Given the description of an element on the screen output the (x, y) to click on. 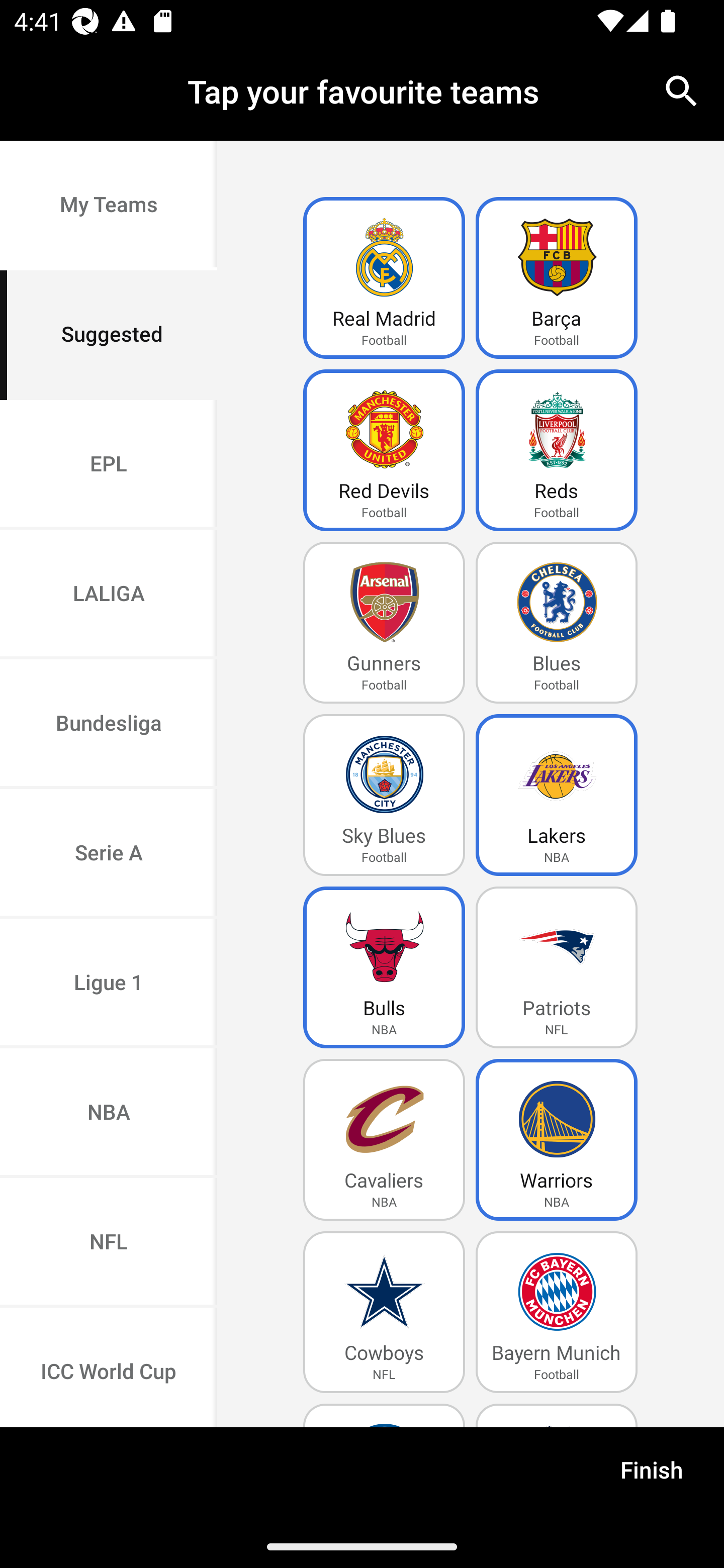
search (681, 90)
My Teams (108, 206)
Real Madrid Real MadridSelected Football (383, 278)
Barça BarçaSelected Football (556, 278)
Suggested (108, 334)
Red Devils Red DevilsSelected Football (383, 450)
Reds RedsSelected Football (556, 450)
EPL (108, 464)
LALIGA (108, 594)
Gunners Gunners Football (383, 623)
Blues Blues Football (556, 623)
Bundesliga (108, 725)
Sky Blues Sky Blues Football (383, 794)
Lakers LakersSelected NBA (556, 794)
Serie A (108, 853)
Bulls BullsSelected NBA (383, 966)
Patriots Patriots NFL (556, 966)
Ligue 1 (108, 983)
NBA (108, 1113)
Cavaliers Cavaliers NBA (383, 1139)
Warriors WarriorsSelected NBA (556, 1139)
NFL (108, 1242)
Cowboys Cowboys NFL (383, 1311)
Bayern Munich Bayern Munich Football (556, 1311)
ICC World Cup (108, 1366)
Finish Finish and Close (651, 1475)
